Given the description of an element on the screen output the (x, y) to click on. 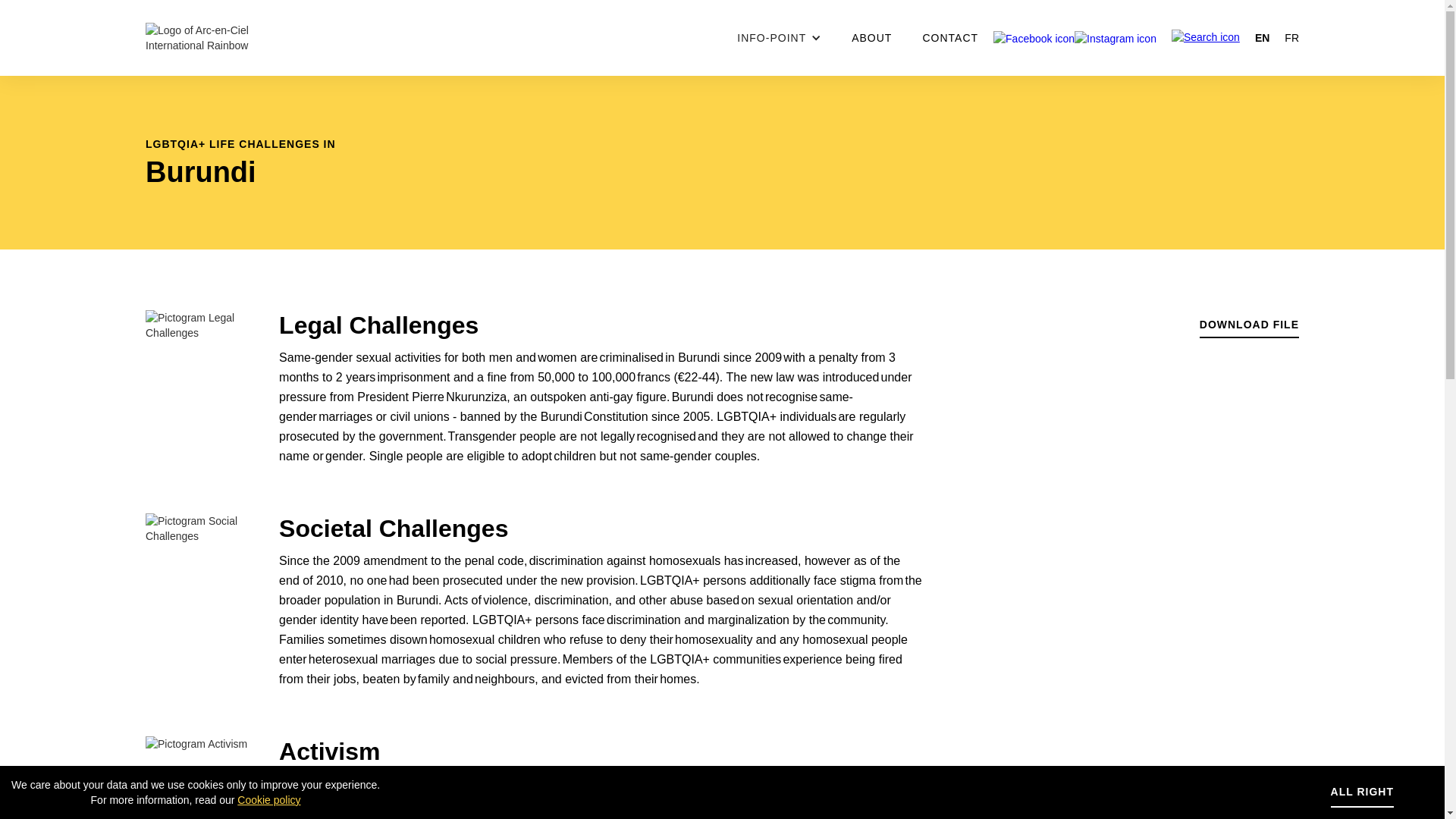
DOWNLOAD FILE Element type: text (1249, 324)
FR Element type: text (1284, 37)
ALL RIGHT Element type: text (1361, 792)
CONTACT Element type: text (949, 37)
ABOUT Element type: text (871, 37)
Search Element type: text (886, 29)
Cookie policy Element type: text (268, 799)
Cookie policy Element type: text (189, 799)
